Given the description of an element on the screen output the (x, y) to click on. 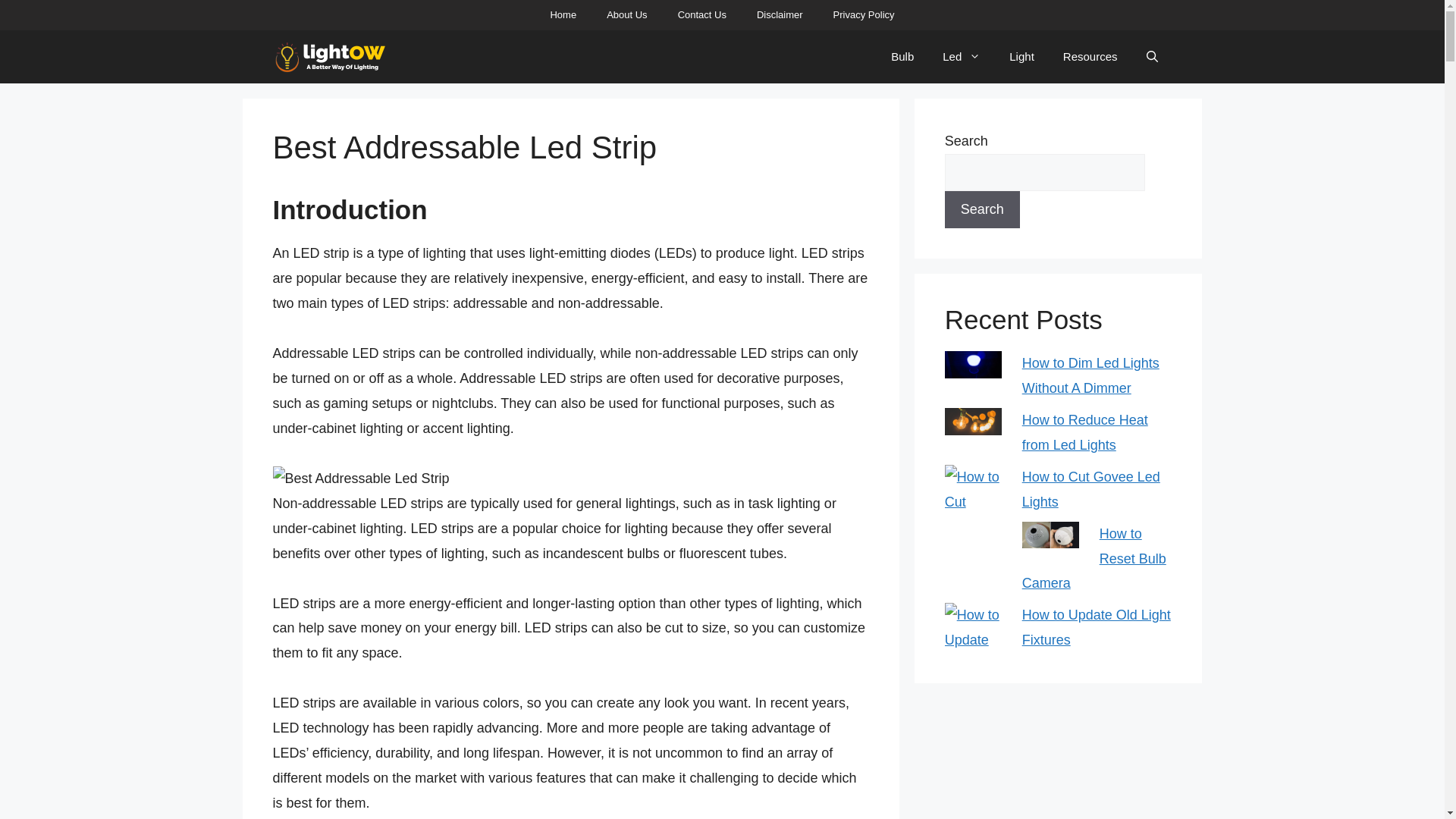
Search (982, 209)
Resources (1090, 56)
Led (961, 56)
Disclaimer (779, 15)
Contact Us (701, 15)
How to Update Old Light Fixtures (1096, 627)
Light (1021, 56)
Lightow (330, 56)
How to Reset Bulb Camera (1094, 558)
Privacy Policy (864, 15)
